Given the description of an element on the screen output the (x, y) to click on. 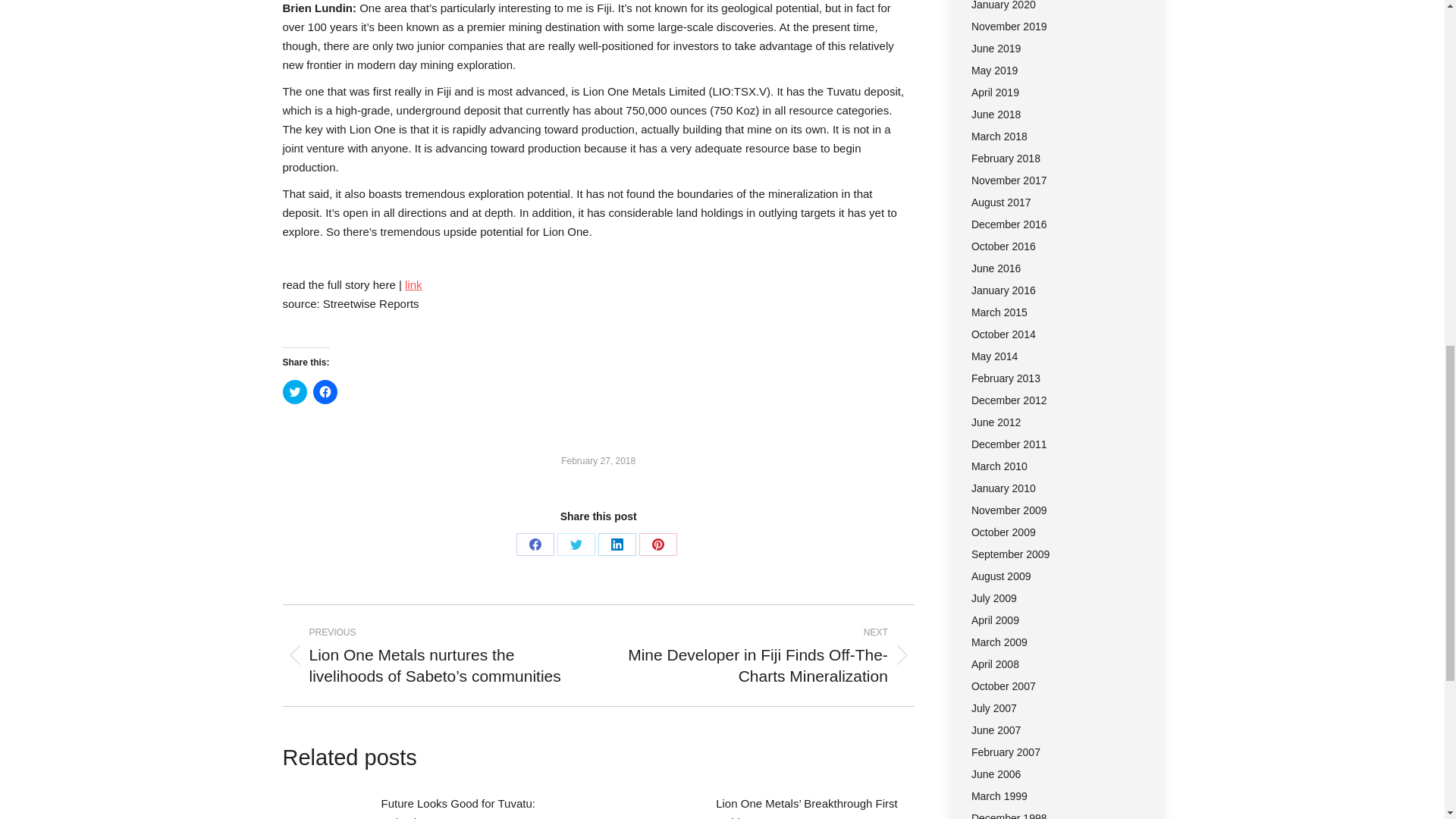
Facebook (535, 544)
Click to share on Twitter (293, 392)
Share on LinkedIn (617, 544)
Share on Pinterest (658, 544)
LinkedIn (617, 544)
Future Looks Good for Tuvatu: Nalumisa (479, 806)
Share on Facebook (535, 544)
Click to share on Facebook (324, 392)
Share on Twitter (576, 544)
